Given the description of an element on the screen output the (x, y) to click on. 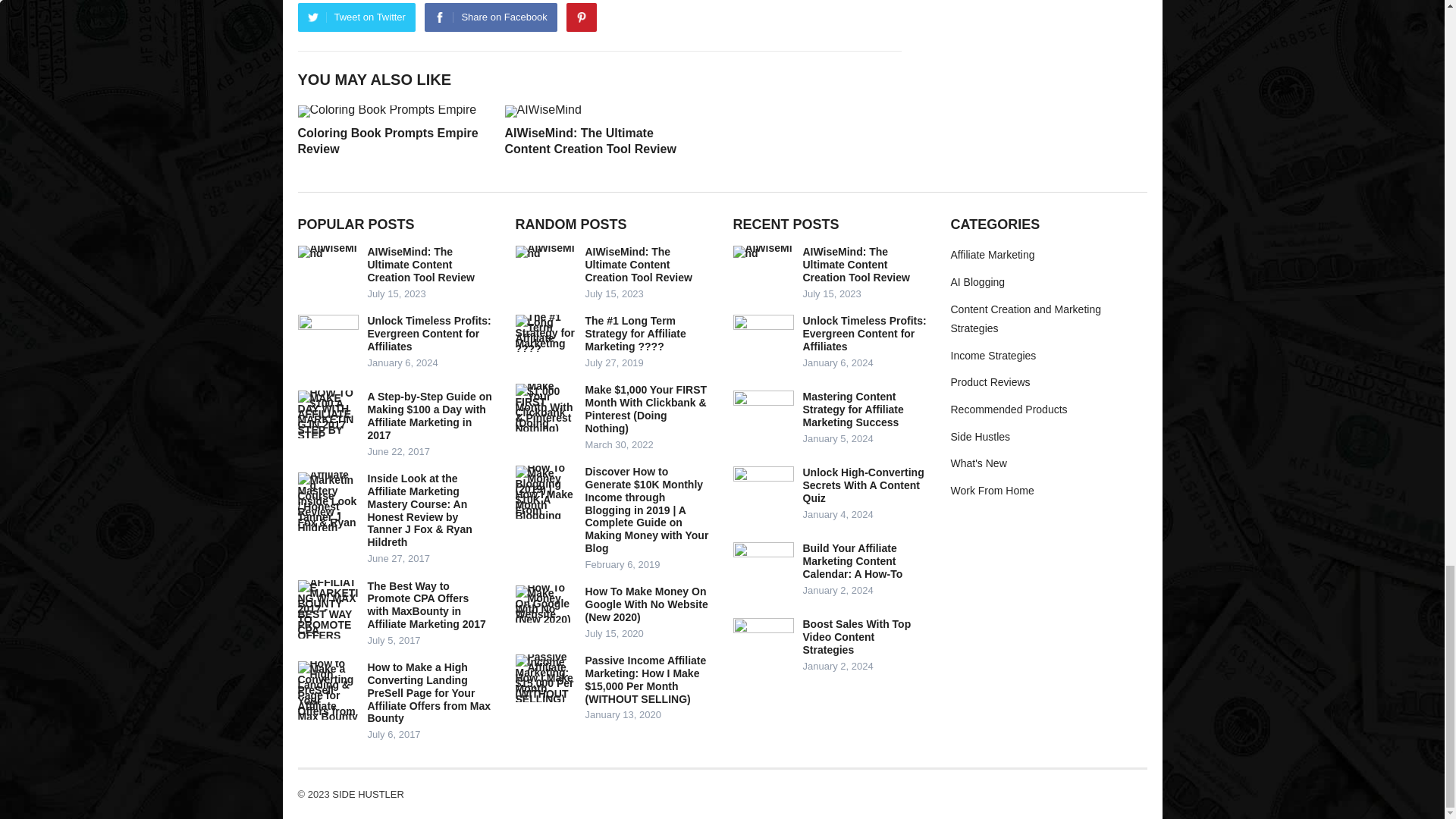
Share on Facebook (490, 17)
Pinterest (581, 17)
Tweet on Twitter (355, 17)
